Given the description of an element on the screen output the (x, y) to click on. 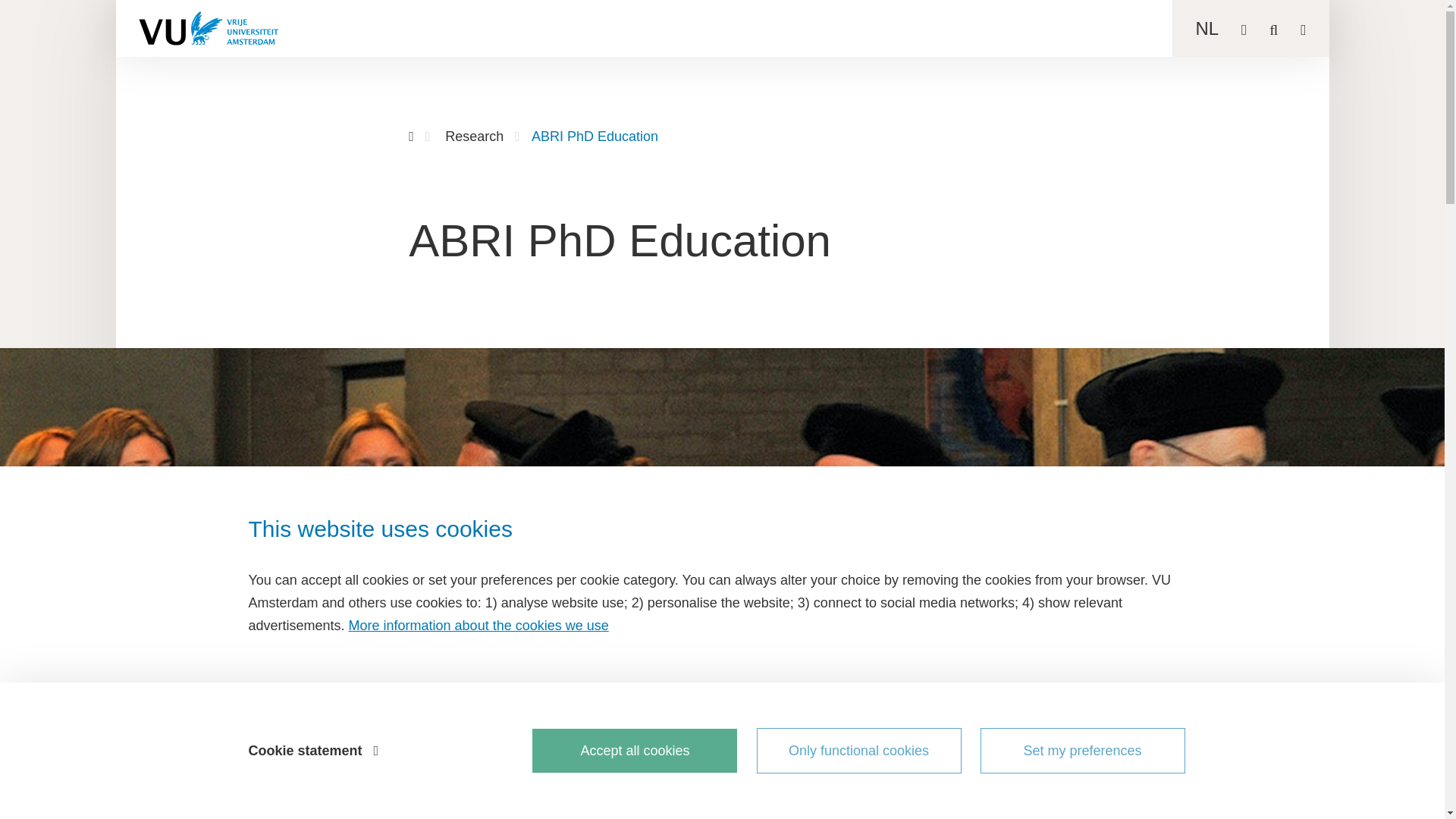
Only functional cookies (858, 750)
NL (1206, 28)
Accept all cookies (634, 750)
Cookie statement (312, 750)
Set my preferences (1082, 750)
Research (474, 136)
More information about the cookies we use (478, 625)
